Given the description of an element on the screen output the (x, y) to click on. 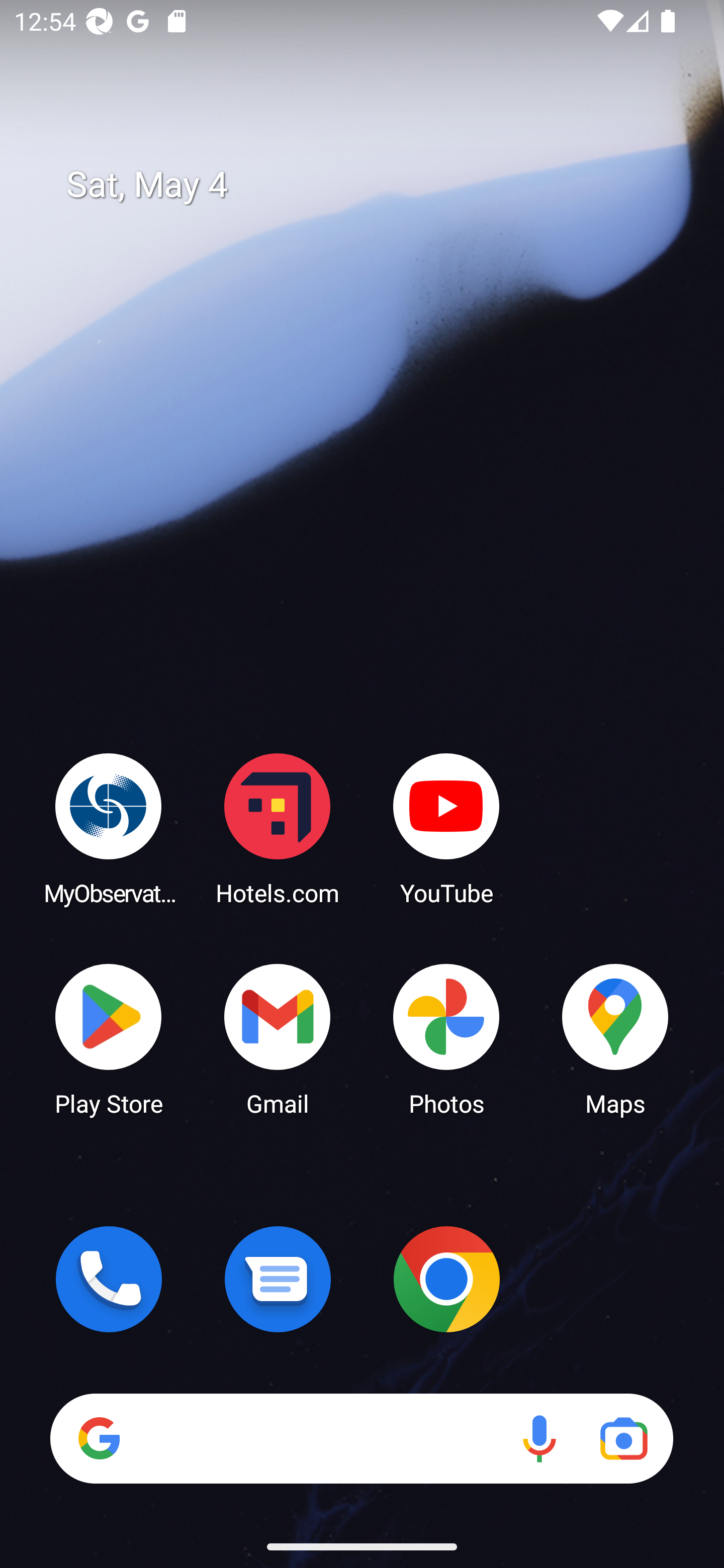
Sat, May 4 (375, 184)
MyObservatory (108, 828)
Hotels.com (277, 828)
YouTube (445, 828)
Play Store (108, 1038)
Gmail (277, 1038)
Photos (445, 1038)
Maps (615, 1038)
Phone (108, 1279)
Messages (277, 1279)
Chrome (446, 1279)
Search Voice search Google Lens (361, 1438)
Voice search (539, 1438)
Google Lens (623, 1438)
